Given the description of an element on the screen output the (x, y) to click on. 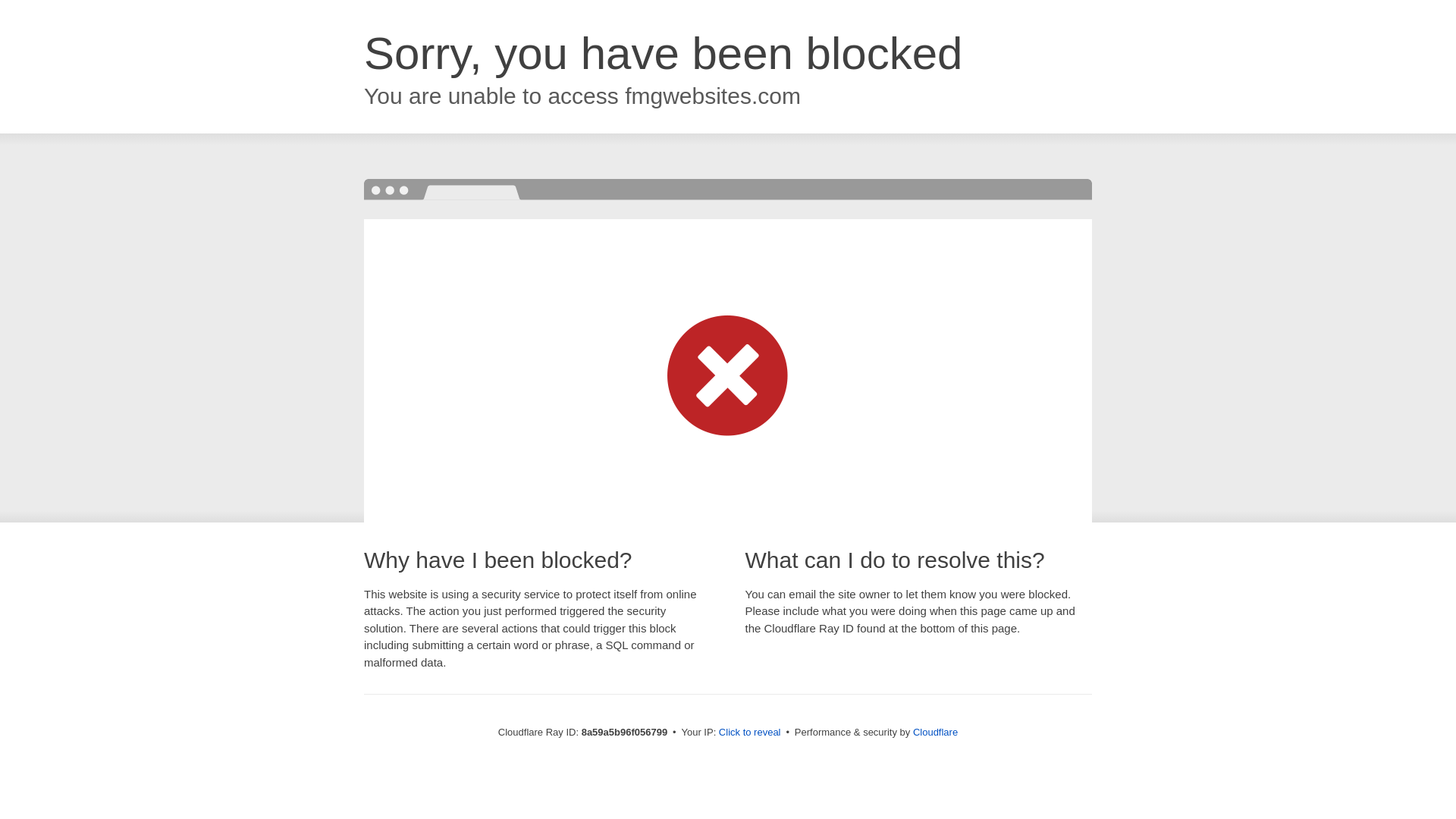
Cloudflare (935, 731)
Click to reveal (749, 732)
